Given the description of an element on the screen output the (x, y) to click on. 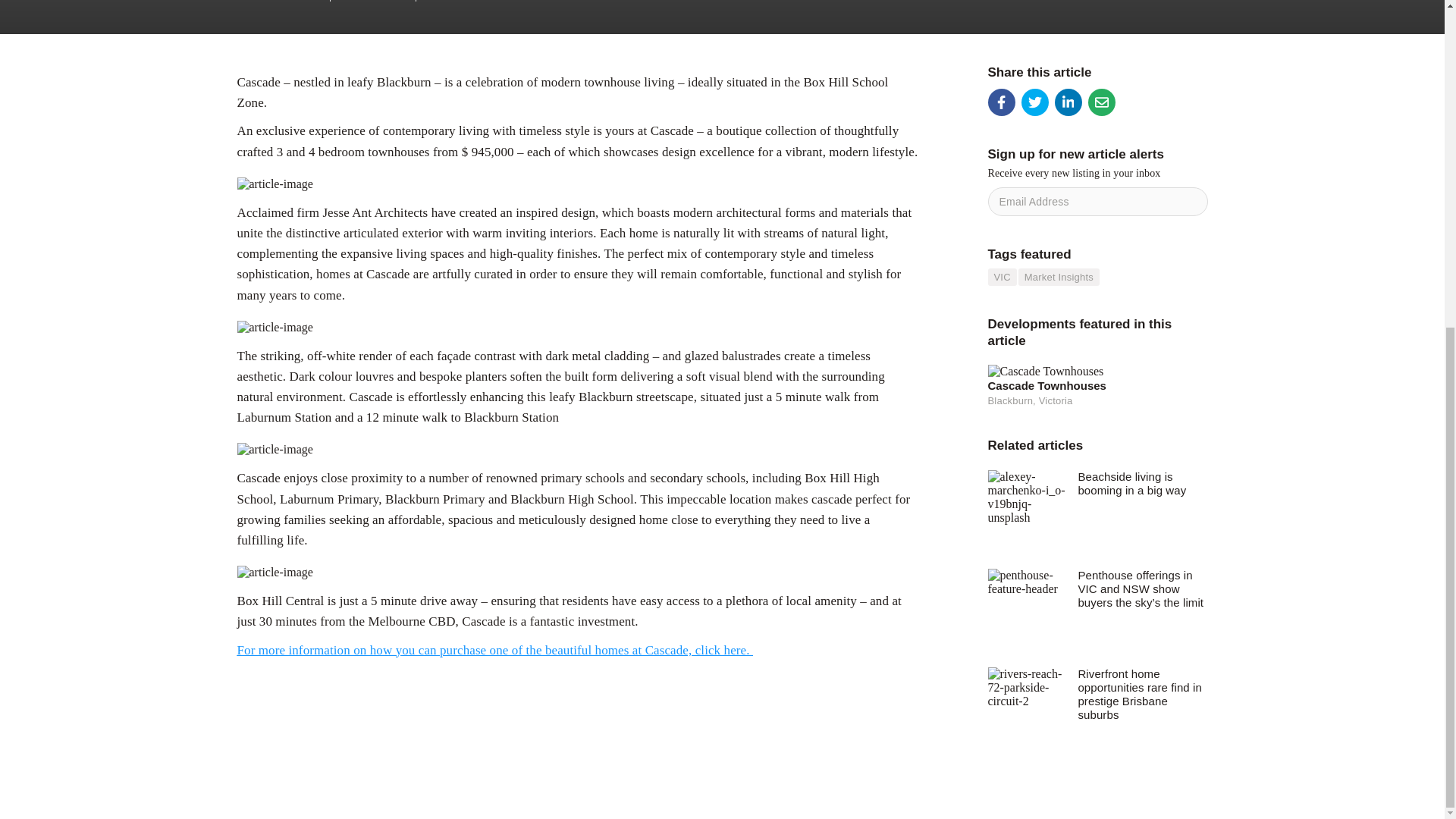
Market Insights (276, 2)
Beachside living is booming in a big way (1142, 482)
Market Insights (1058, 276)
Cascade Townhouses (1097, 386)
VIC (1001, 276)
